Given the description of an element on the screen output the (x, y) to click on. 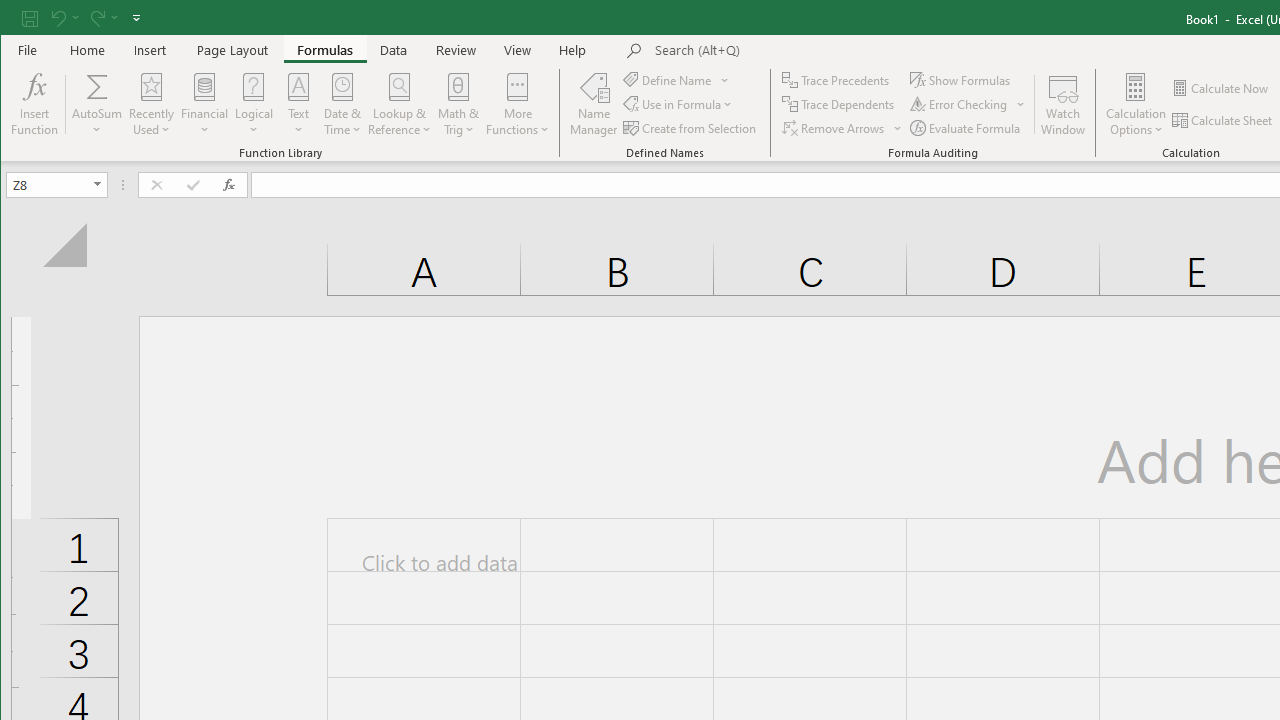
Evaluate Formula (966, 127)
Financial (204, 104)
Show Formulas (962, 80)
Define Name (676, 80)
Name Manager (593, 104)
Logical (254, 104)
